Given the description of an element on the screen output the (x, y) to click on. 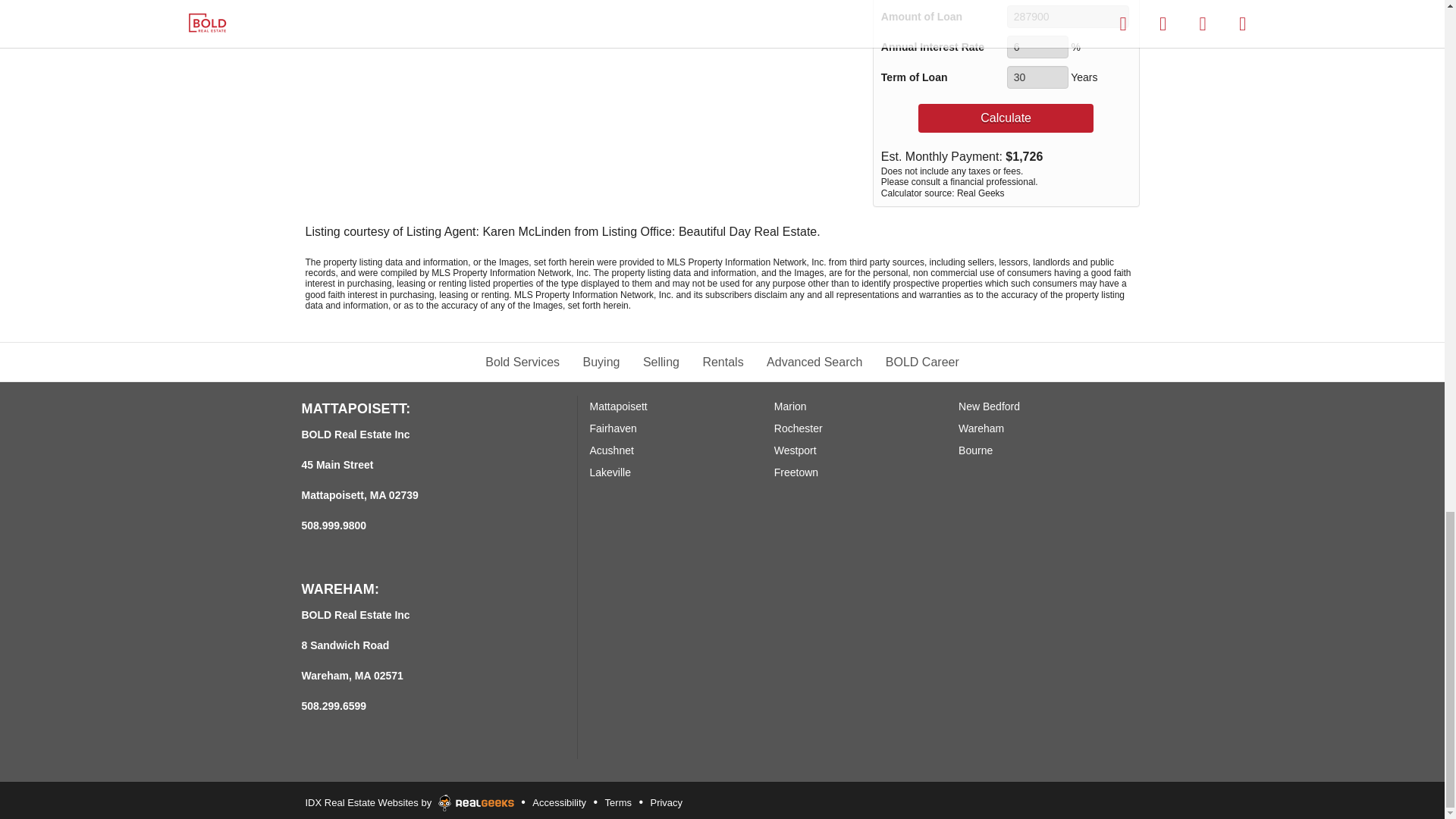
30 (1037, 77)
287900 (1068, 15)
6 (1037, 47)
